Given the description of an element on the screen output the (x, y) to click on. 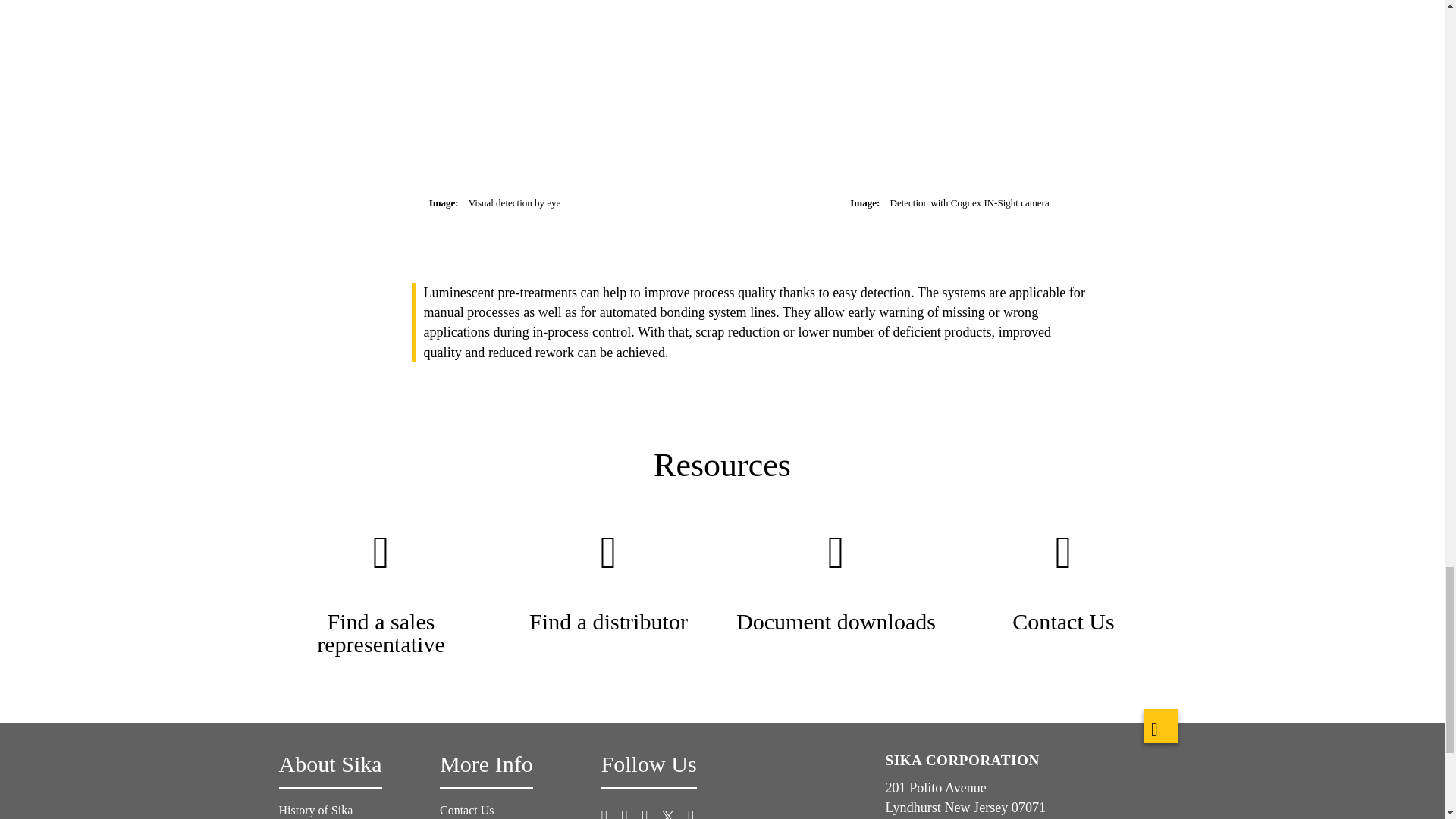
Visual detection by eye (495, 93)
Detection with Cognex IN-Sight camera (949, 93)
